Given the description of an element on the screen output the (x, y) to click on. 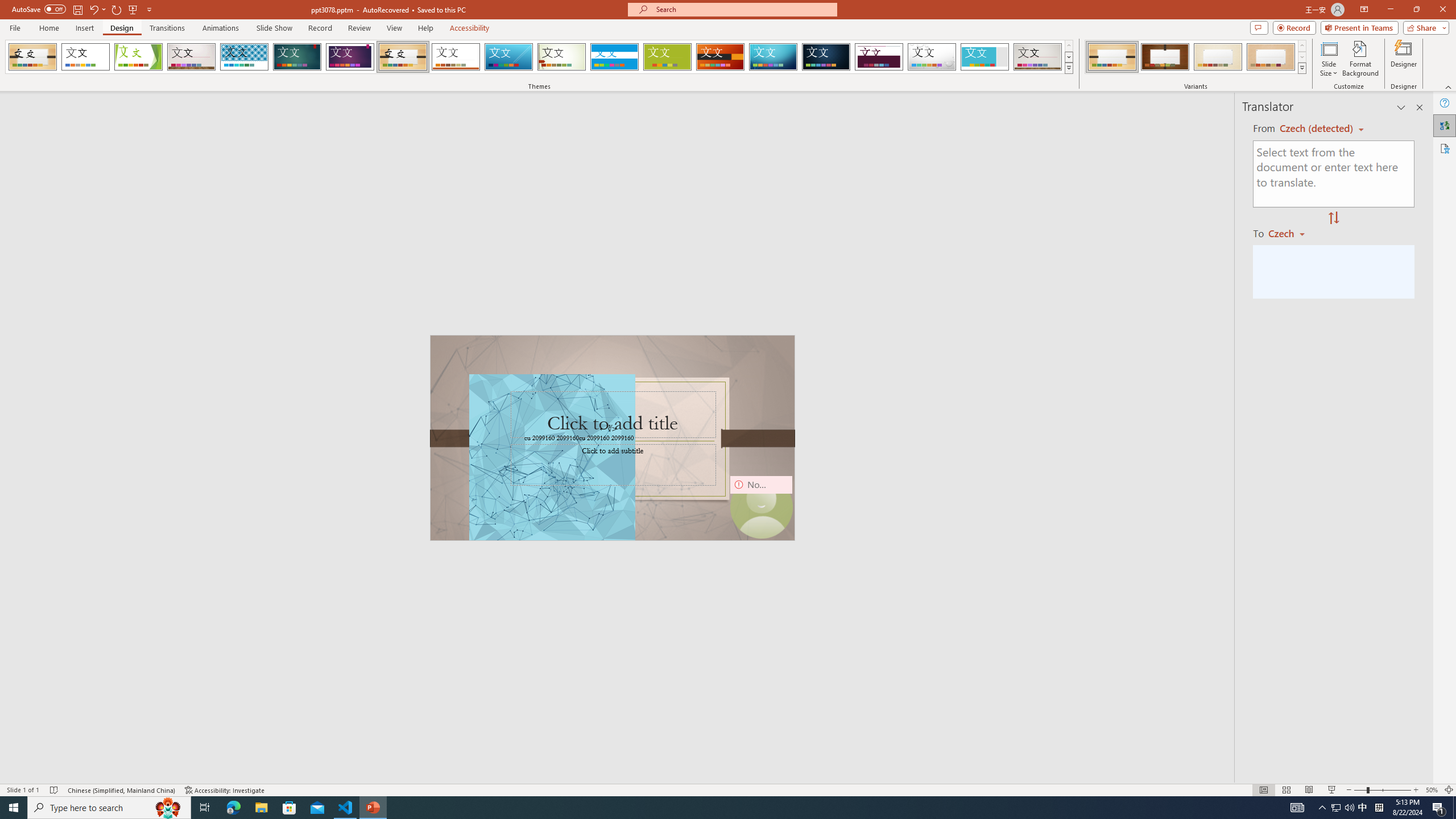
Droplet (931, 56)
Office Theme (85, 56)
Czech (detected) (1317, 128)
Organic Variant 4 (1270, 56)
